Given the description of an element on the screen output the (x, y) to click on. 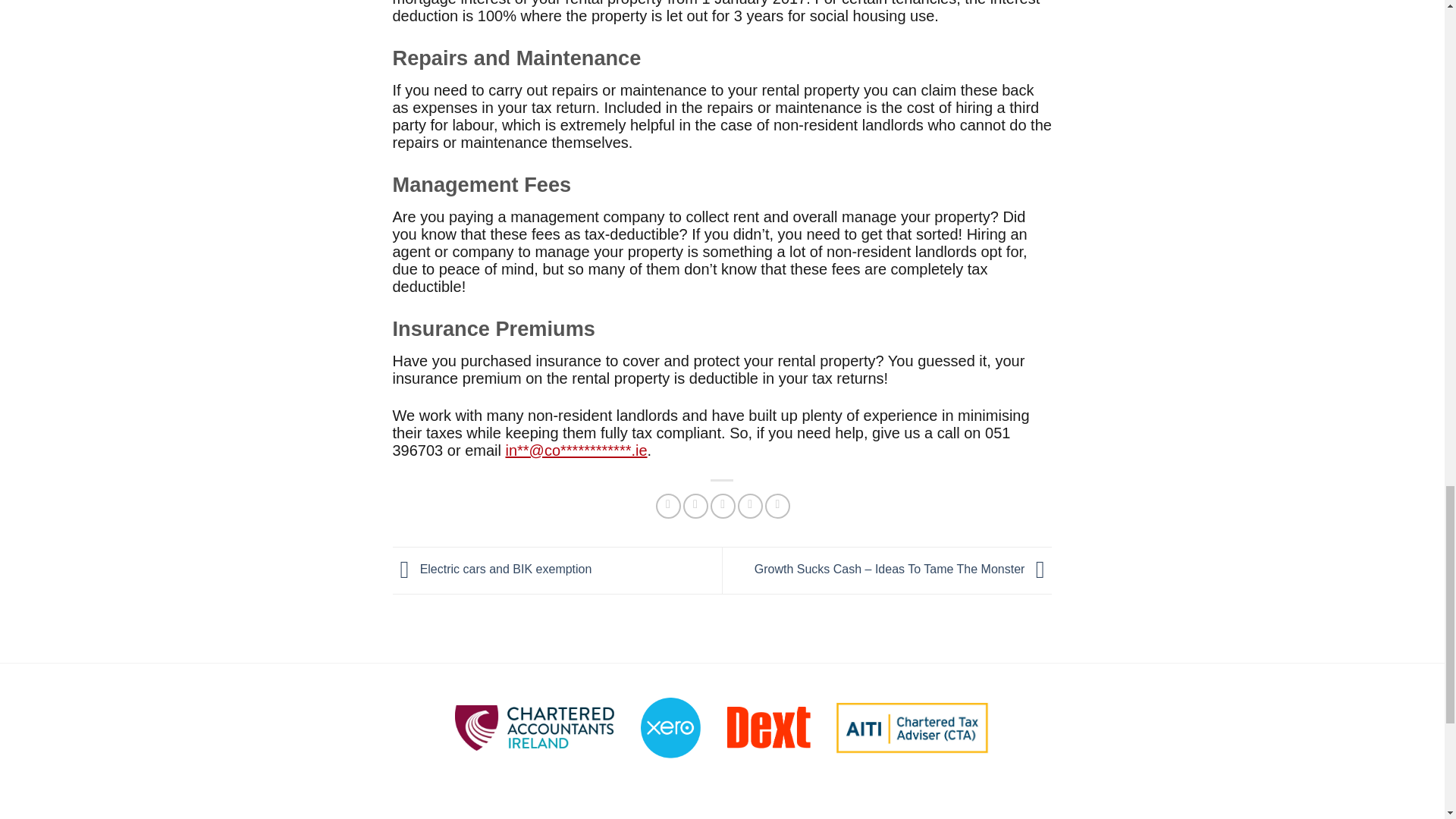
Share on Twitter (694, 505)
Share on Facebook (668, 505)
Pin on Pinterest (750, 505)
Electric cars and BIK exemption (492, 568)
Share on LinkedIn (777, 505)
Email to a Friend (722, 505)
